Given the description of an element on the screen output the (x, y) to click on. 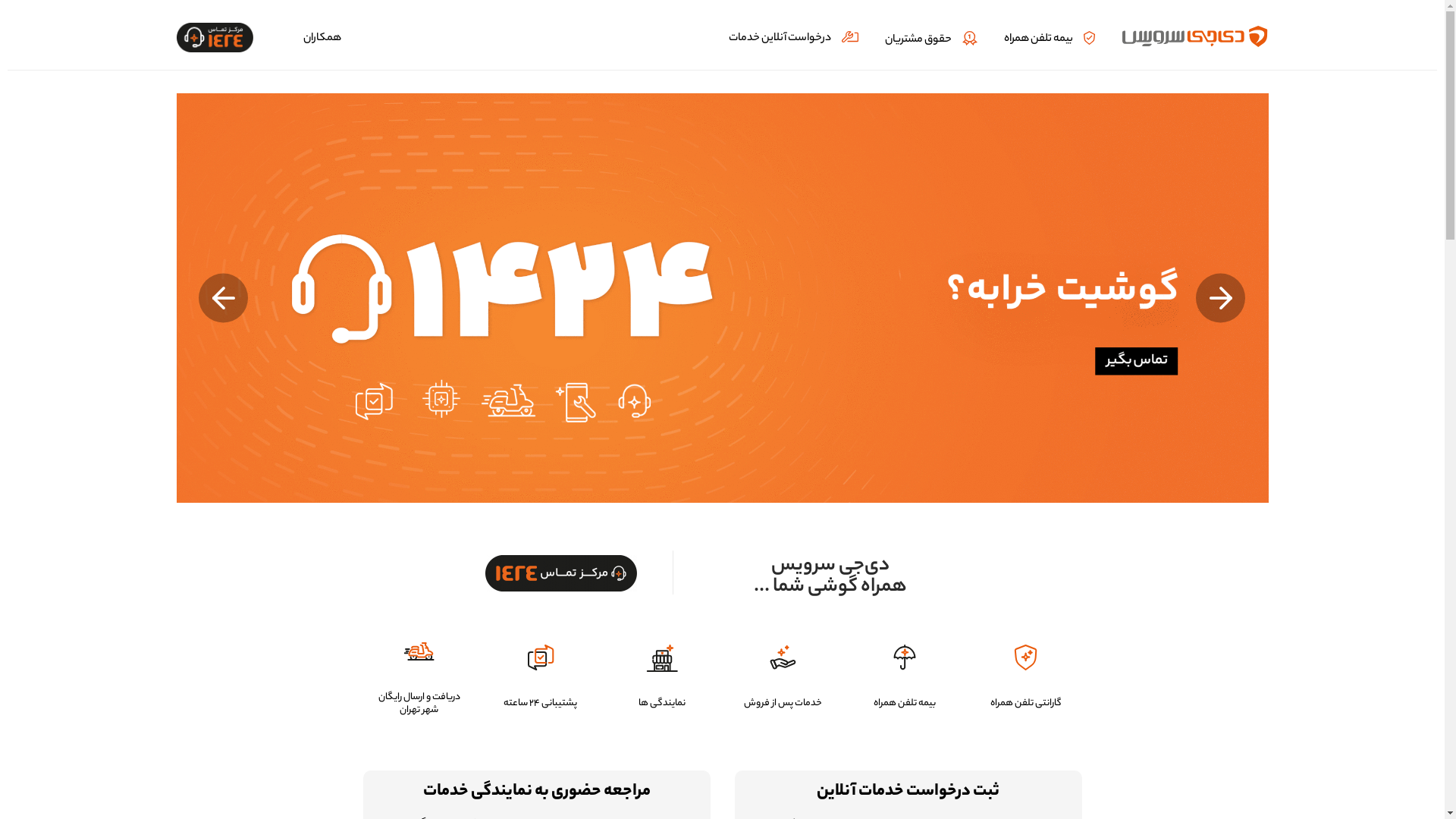
Frame 21 Element type: hover (561, 573)
